Given the description of an element on the screen output the (x, y) to click on. 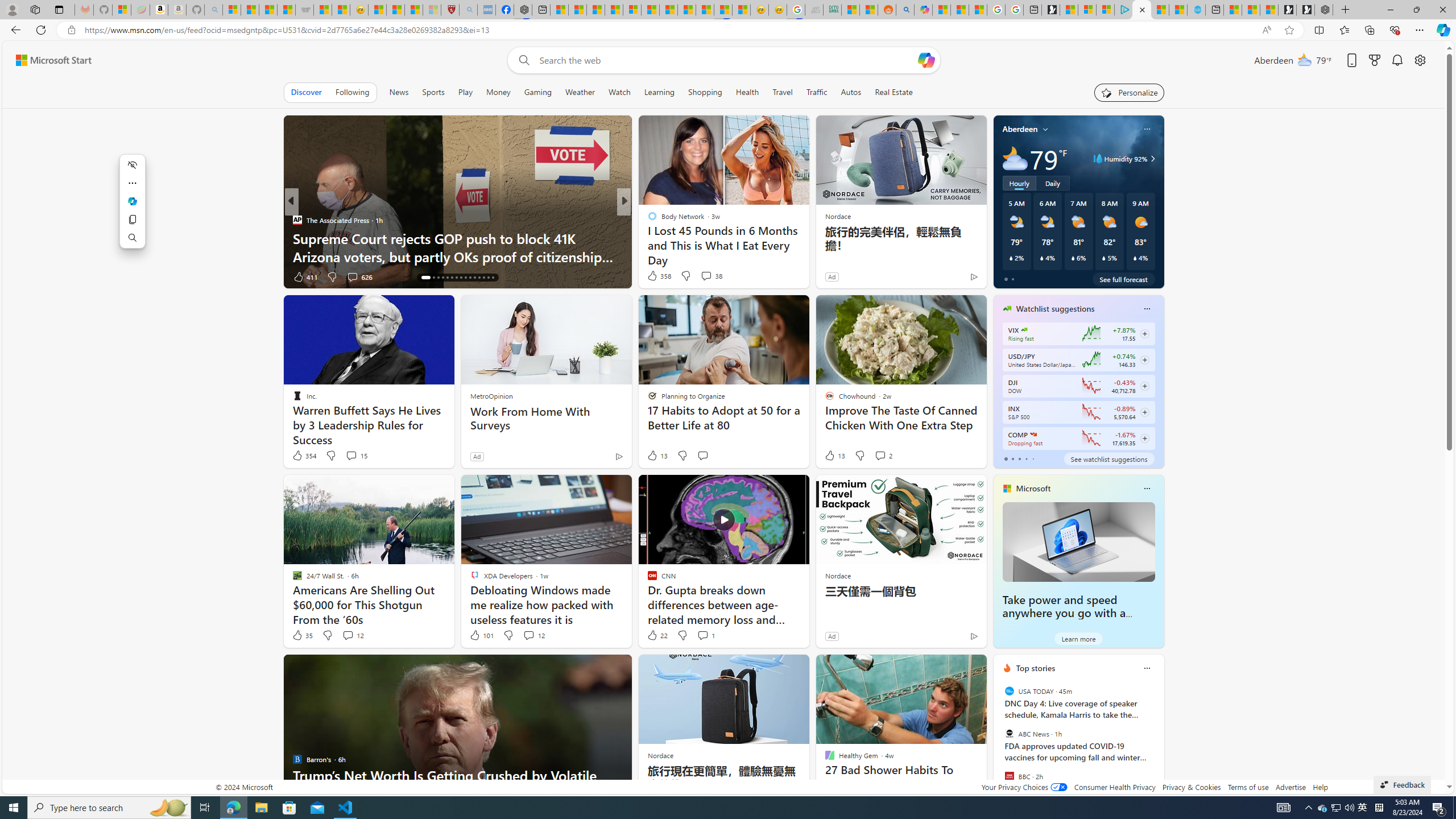
67 Like (652, 276)
AutomationID: tab-17 (433, 277)
42 Like (652, 276)
View comments 4 Comment (698, 276)
View comments 104 Comment (709, 276)
12 Popular Science Lies that Must be Corrected - Sleeping (431, 9)
Mostly cloudy (1014, 158)
CBOE Market Volatility Index (1023, 329)
